Given the description of an element on the screen output the (x, y) to click on. 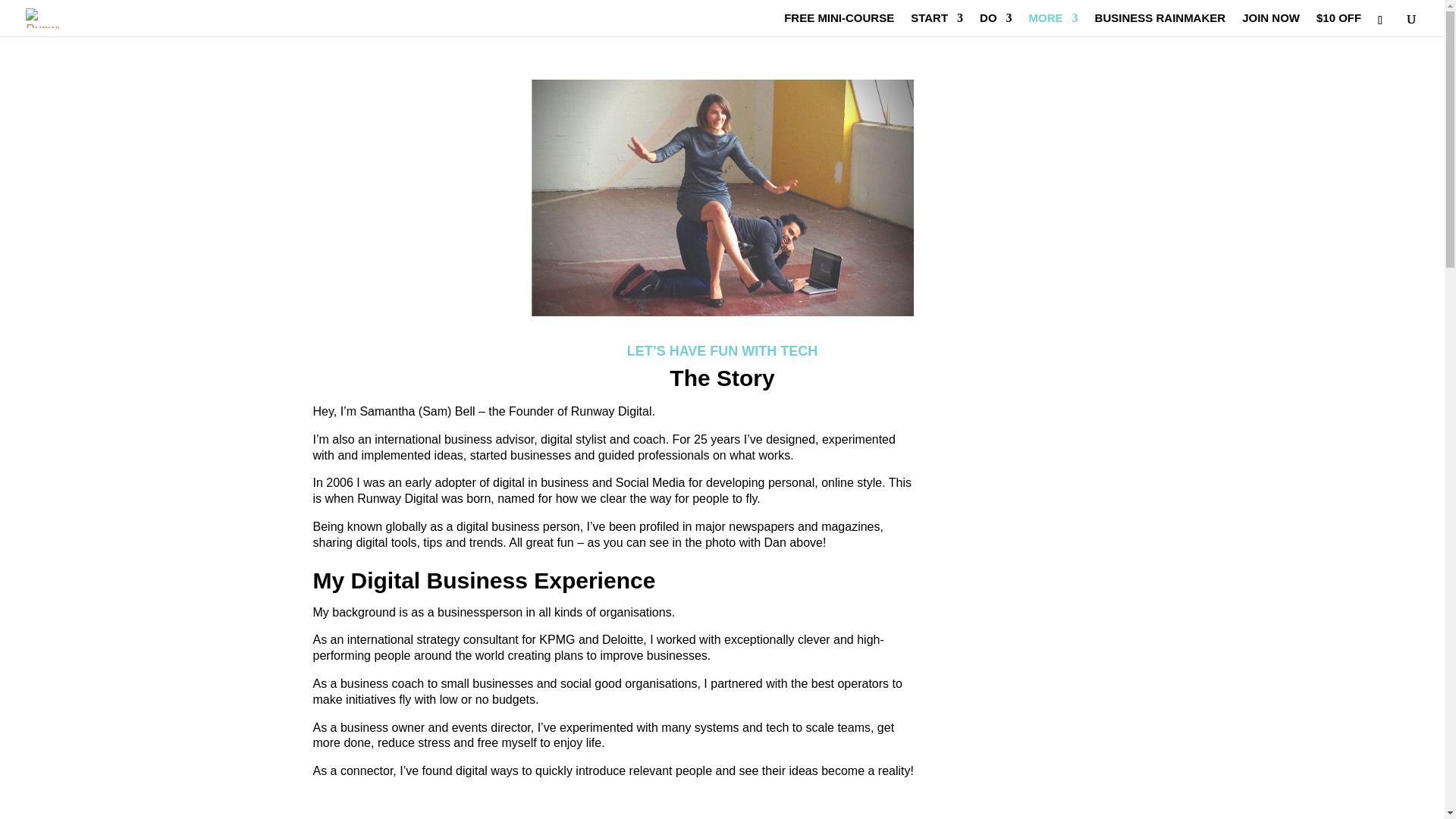
START (936, 24)
DO (995, 24)
FREE MINI-COURSE (838, 24)
MORE (1053, 24)
JOIN NOW (1270, 24)
BUSINESS RAINMAKER (1159, 24)
